Given the description of an element on the screen output the (x, y) to click on. 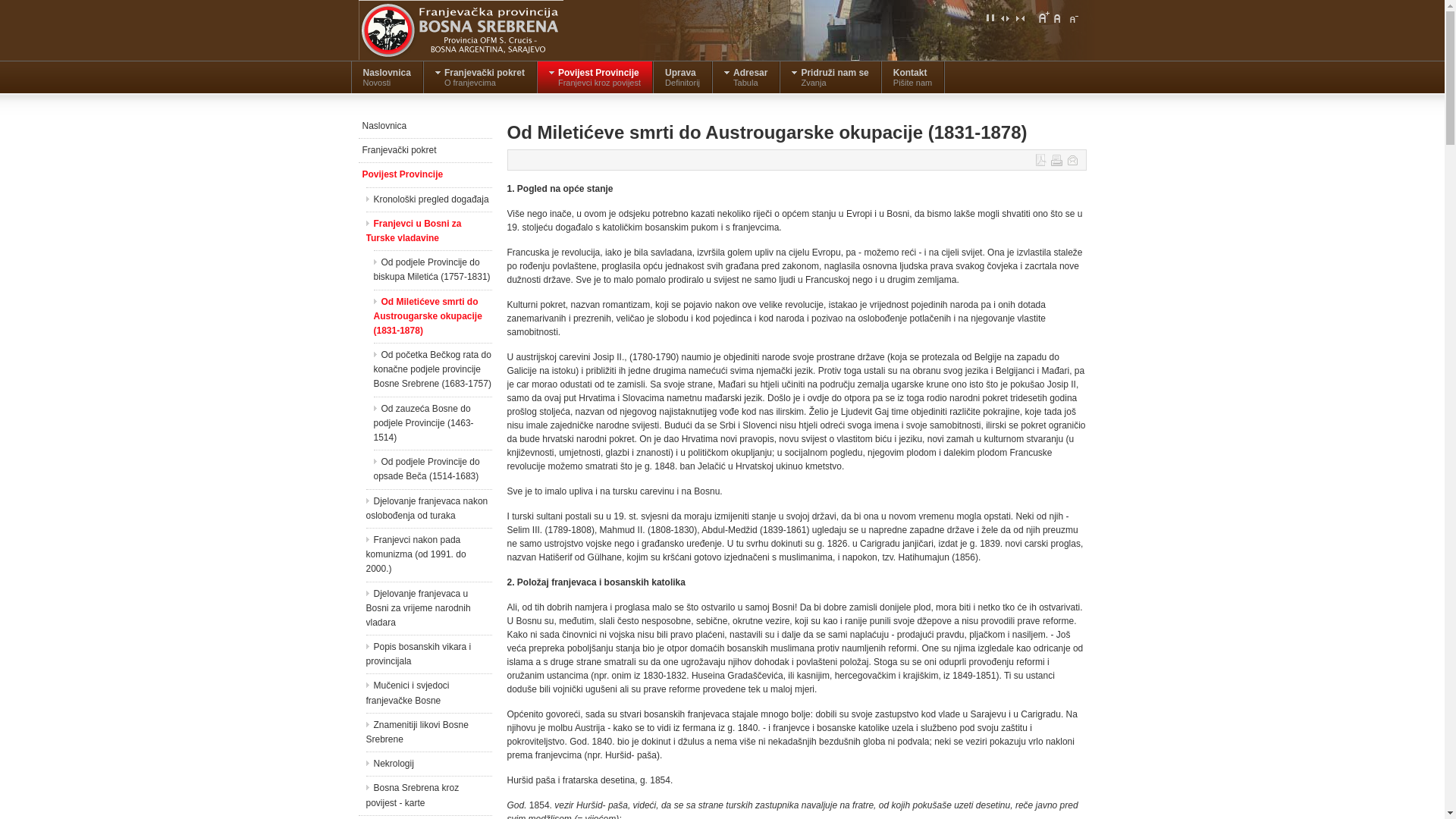
Uski ekran (Narrow screen) Element type: hover (1019, 17)
Naslovnica
Novosti Element type: text (386, 77)
Nekrologij Element type: text (428, 763)
Naslovnica Element type: text (424, 126)
Znamenitiji likovi Bosne Srebrene Element type: text (428, 732)
Bosna Srebrena kroz povijest - karte Element type: text (428, 795)
Franjevci nakon pada komunizma (od 1991. do 2000.) Element type: text (428, 554)
Uprava
Definitorij Element type: text (682, 77)
Franjevci u Bosni za Turske vladavine Element type: text (428, 231)
Popis bosanskih vikara i provincijala Element type: text (428, 654)
Puni ekran (Fullscreen) Element type: hover (990, 17)
Adresar
Tabula Element type: text (745, 77)
Smanji slova Element type: hover (1072, 17)
Povijest Provincije
Franjevci kroz povijest Element type: text (594, 77)
Povijest Provincije Element type: text (424, 174)
Djelovanje franjevaca u Bosni za vrijeme narodnih vladara Element type: text (428, 608)
